Given the description of an element on the screen output the (x, y) to click on. 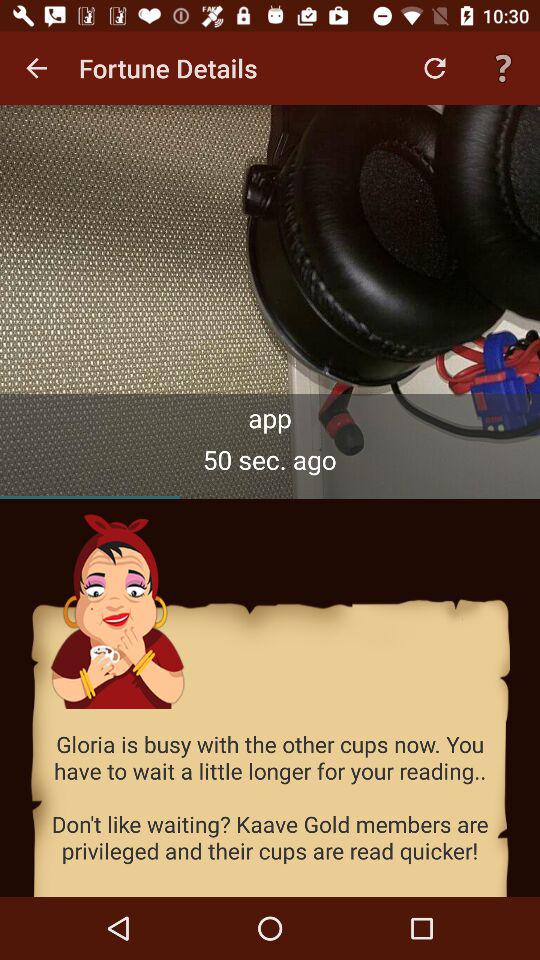
click the app to the right of the fortune details app (434, 67)
